Given the description of an element on the screen output the (x, y) to click on. 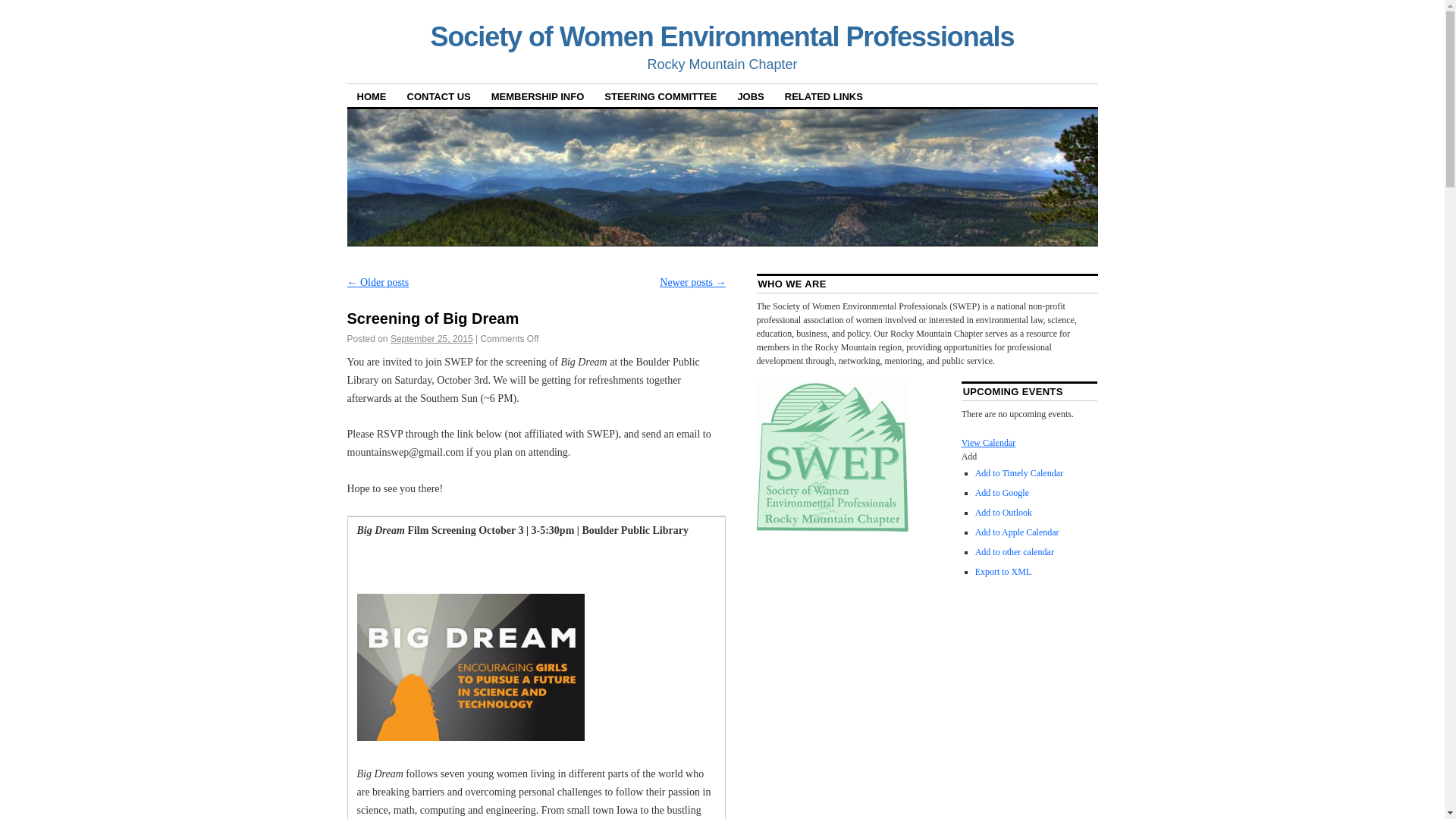
MEMBERSHIP INFO (537, 96)
4:57 pm (431, 338)
CONTACT US (438, 96)
RELATED LINKS (823, 96)
Screening of Big Dream (433, 318)
JOBS (749, 96)
September 25, 2015 (431, 338)
HOME (371, 96)
STEERING COMMITTEE (660, 96)
